Given the description of an element on the screen output the (x, y) to click on. 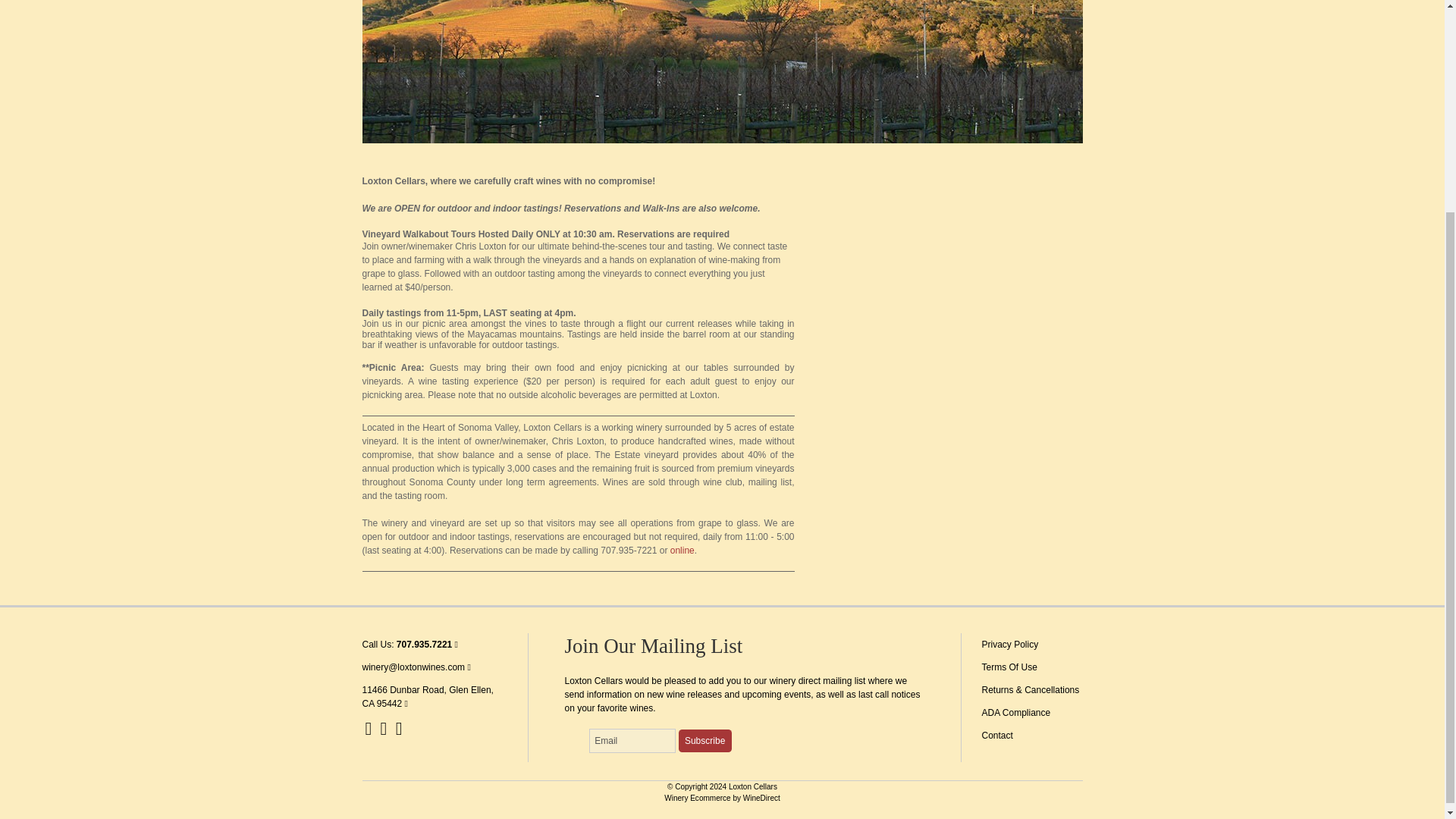
Contact (996, 735)
11466 Dunbar Road, Glen Ellen, CA 95442 (427, 696)
Terms Of Use (1008, 666)
Email (632, 740)
Subscribe (705, 740)
online (681, 550)
Call Us: 707.935.7221 (410, 644)
ADA Compliance (1015, 712)
Privacy Policy (1009, 644)
